Given the description of an element on the screen output the (x, y) to click on. 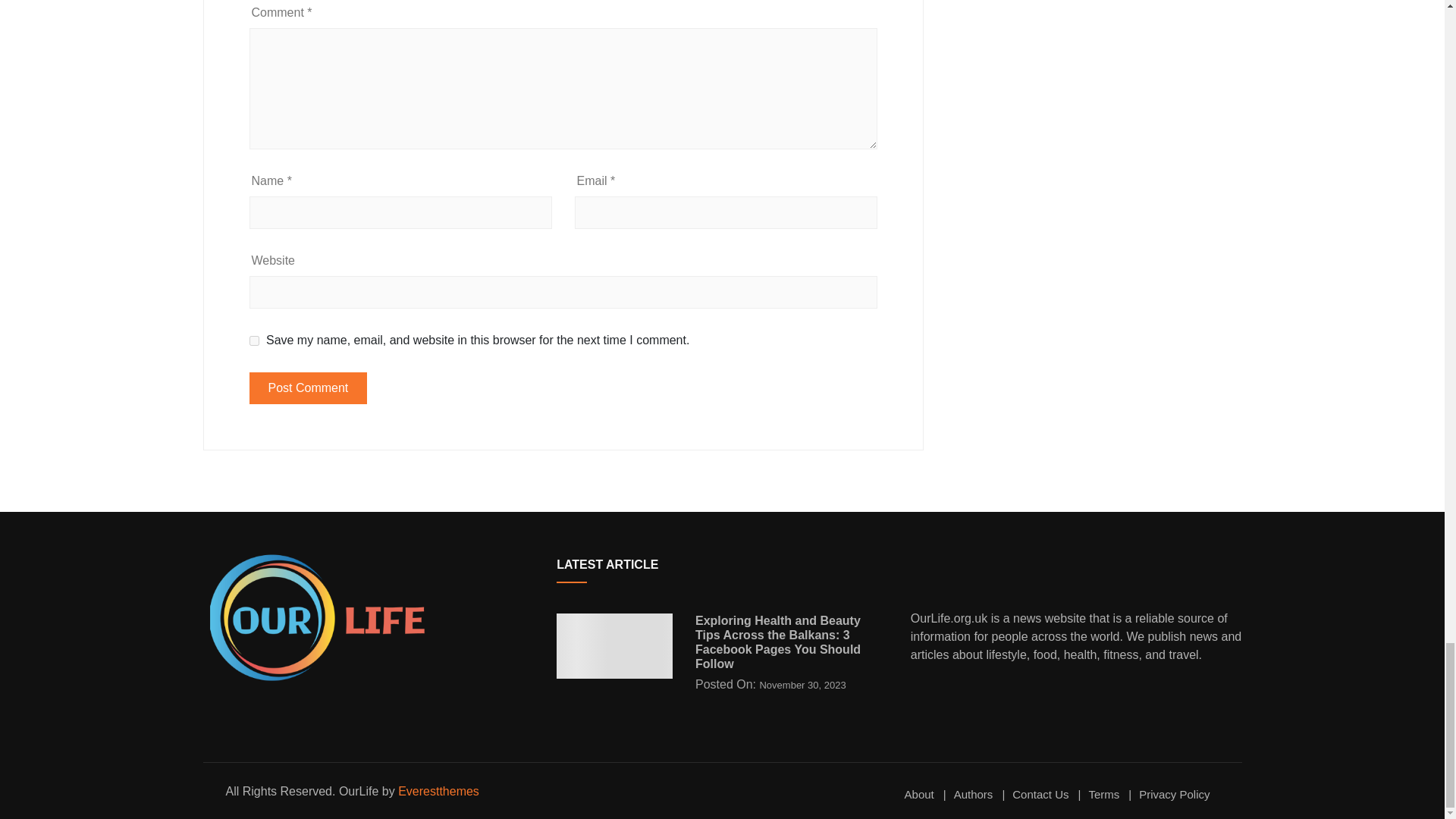
yes (253, 340)
Post Comment (307, 388)
